Given the description of an element on the screen output the (x, y) to click on. 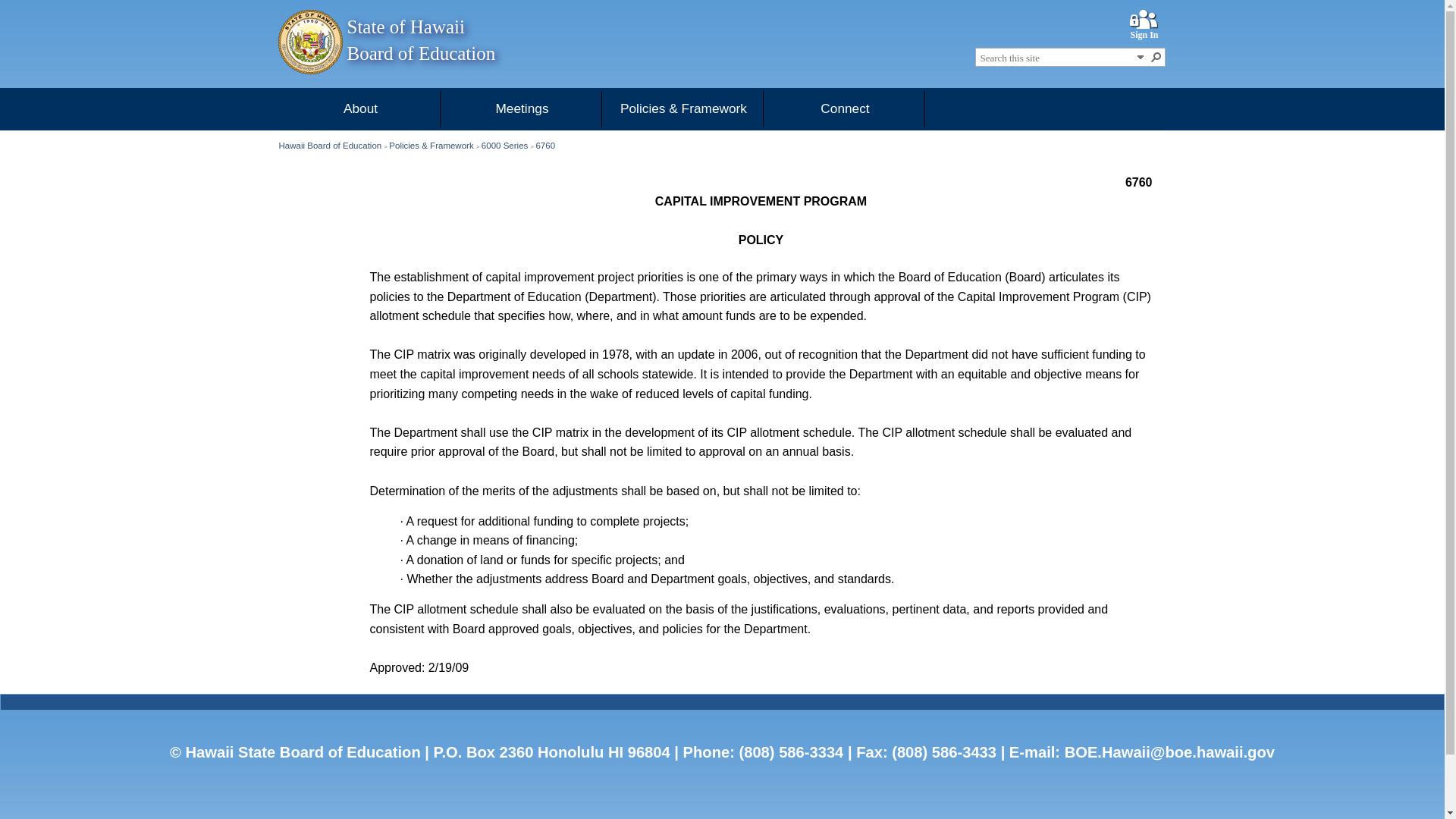
Connect (844, 108)
Navigation (1140, 56)
Sign In (1143, 34)
About (360, 108)
Meetings (521, 108)
Search this site (1055, 58)
6760 (544, 144)
Hawaii Board of Education (329, 144)
Search (1156, 56)
Search this site (1055, 58)
